Given the description of an element on the screen output the (x, y) to click on. 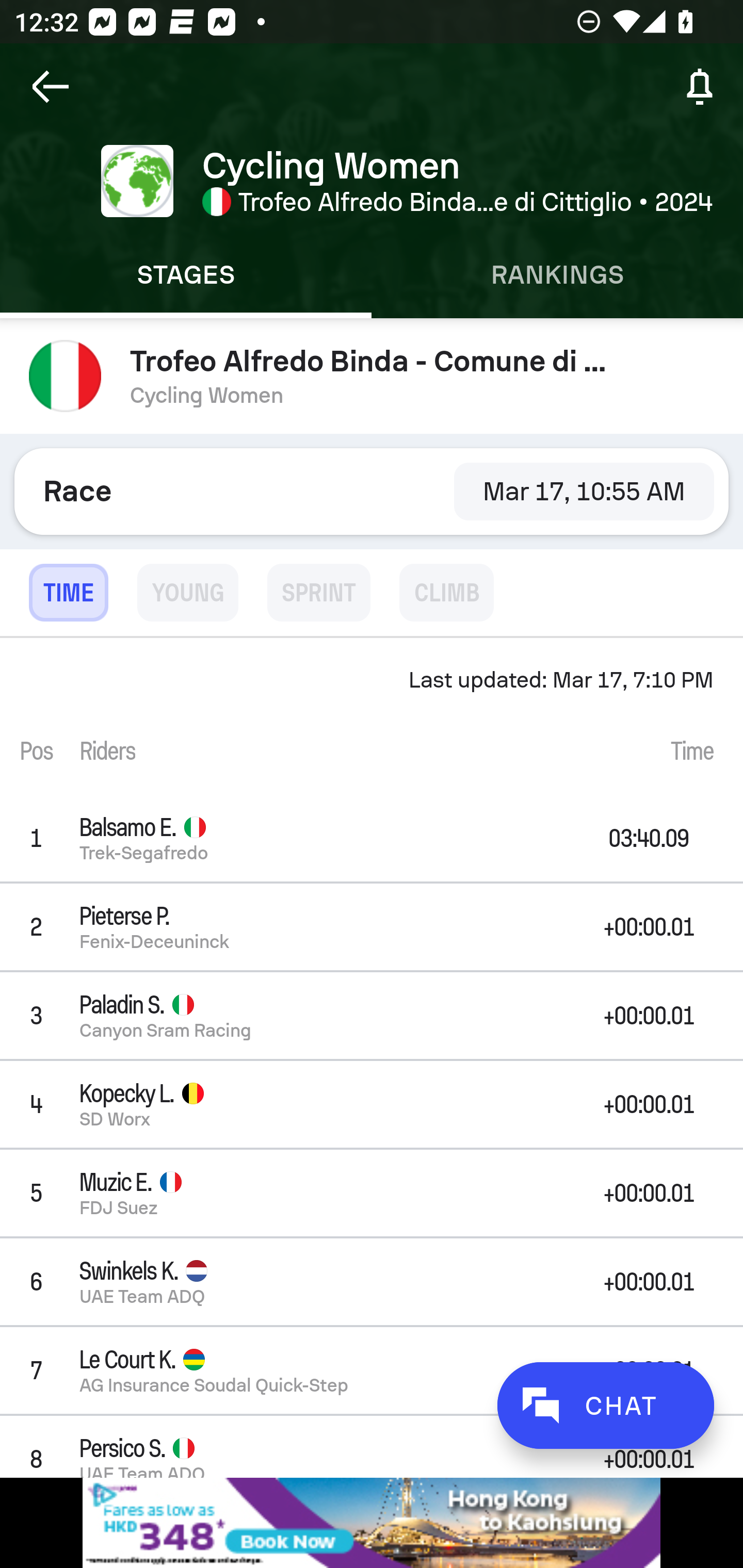
Navigate up (50, 86)
Rankings RANKINGS (557, 275)
Race Mar 17, 10:55 AM (371, 491)
Mar 17, 10:55 AM (583, 491)
TIME (68, 592)
Last updated: Mar 17, 7:10 PM Pos Riders Time (371, 716)
1 Balsamo E. Trek-Segafredo 03:40.09 (371, 837)
2 Pieterse P. Fenix-Deceuninck +00:00.01 (371, 926)
3 Paladin S. Canyon Sram Racing +00:00.01 (371, 1015)
4 Kopecky L. SD Worx +00:00.01 (371, 1104)
5 Muzic E. FDJ Suez +00:00.01 (371, 1192)
6 Swinkels K. UAE Team ADQ +00:00.01 (371, 1281)
CHAT (605, 1405)
8 Persico S. UAE Team ADQ +00:00.01 (371, 1446)
ijqm75ea_320x50 (371, 1522)
